Given the description of an element on the screen output the (x, y) to click on. 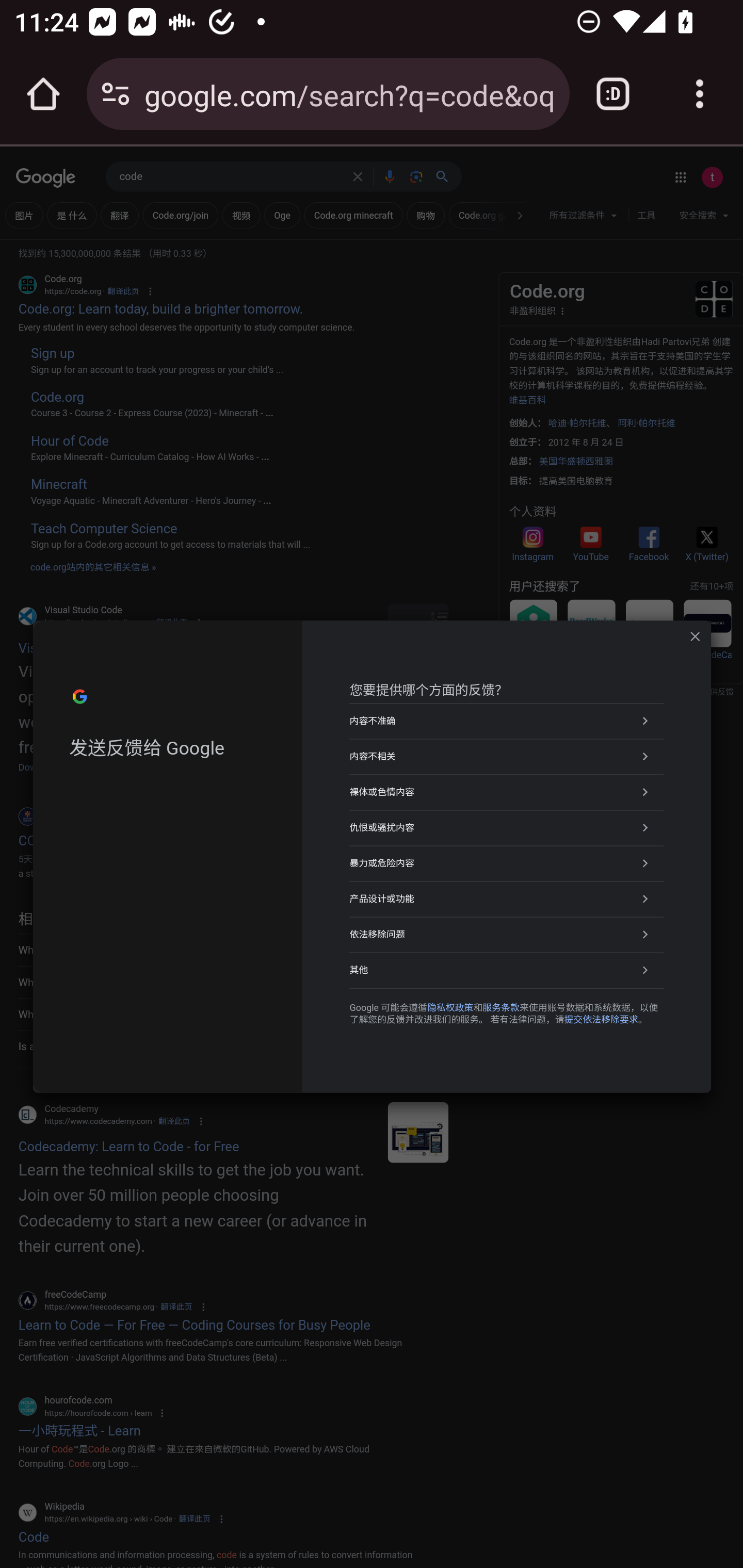
Open the home page (43, 93)
Connection is secure (115, 93)
Switch or close tabs (612, 93)
Customize and control Google Chrome (699, 93)
关闭 (694, 636)
内容不准确 (506, 720)
内容不相关 (506, 756)
裸体或色情内容 (506, 791)
仇恨或骚扰内容 (506, 827)
暴力或危险内容 (506, 863)
产品设计或功能 (506, 899)
依法移除问题 (506, 934)
其他 (506, 969)
隐私权政策 (449, 1006)
服务条款 (500, 1006)
提交依法移除要求 (600, 1019)
